Given the description of an element on the screen output the (x, y) to click on. 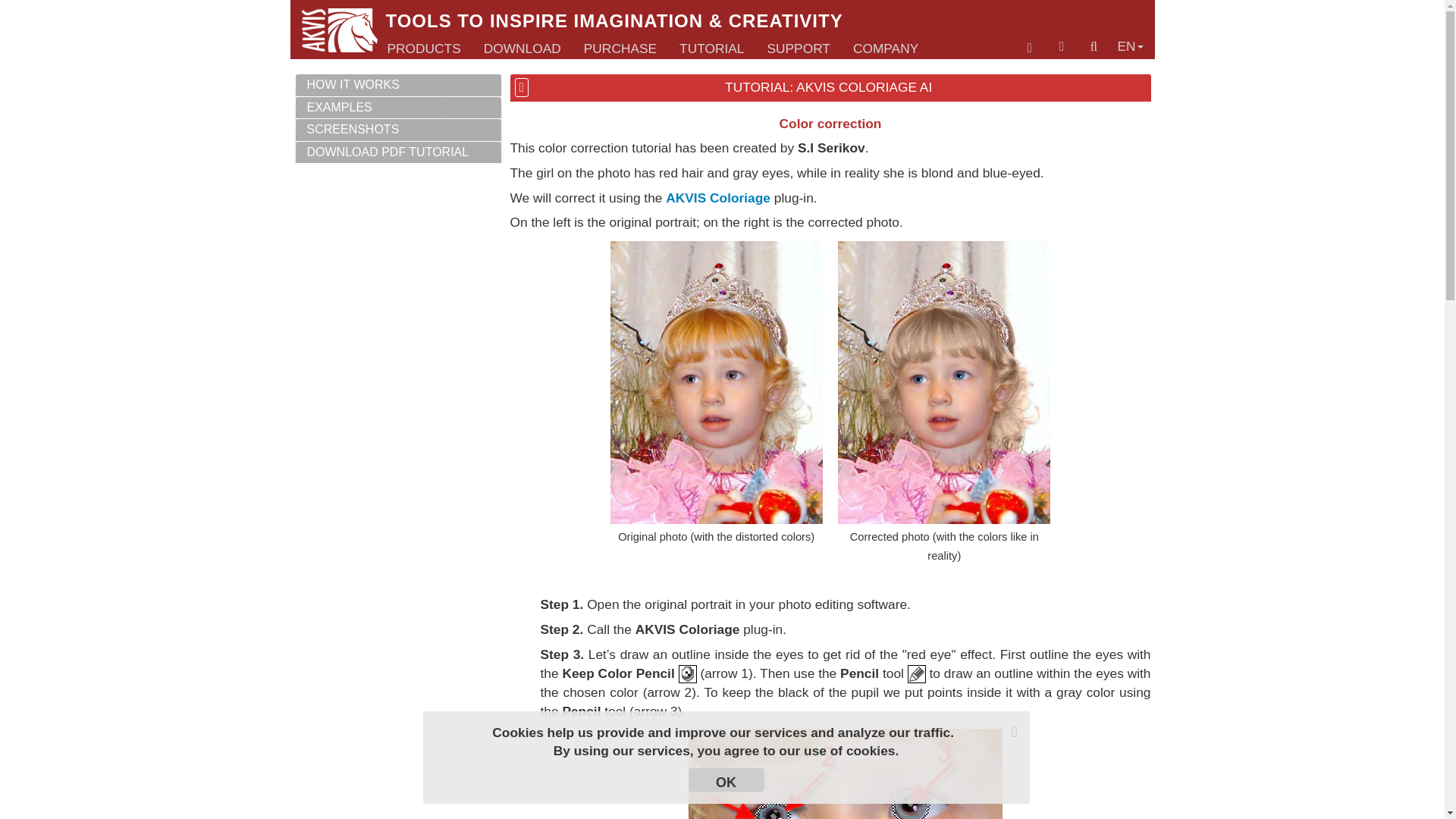
Search (1093, 46)
Sign In (1061, 46)
Shopping Cart (1030, 47)
OK (726, 779)
PRODUCTS (423, 48)
EN (1129, 46)
